Given the description of an element on the screen output the (x, y) to click on. 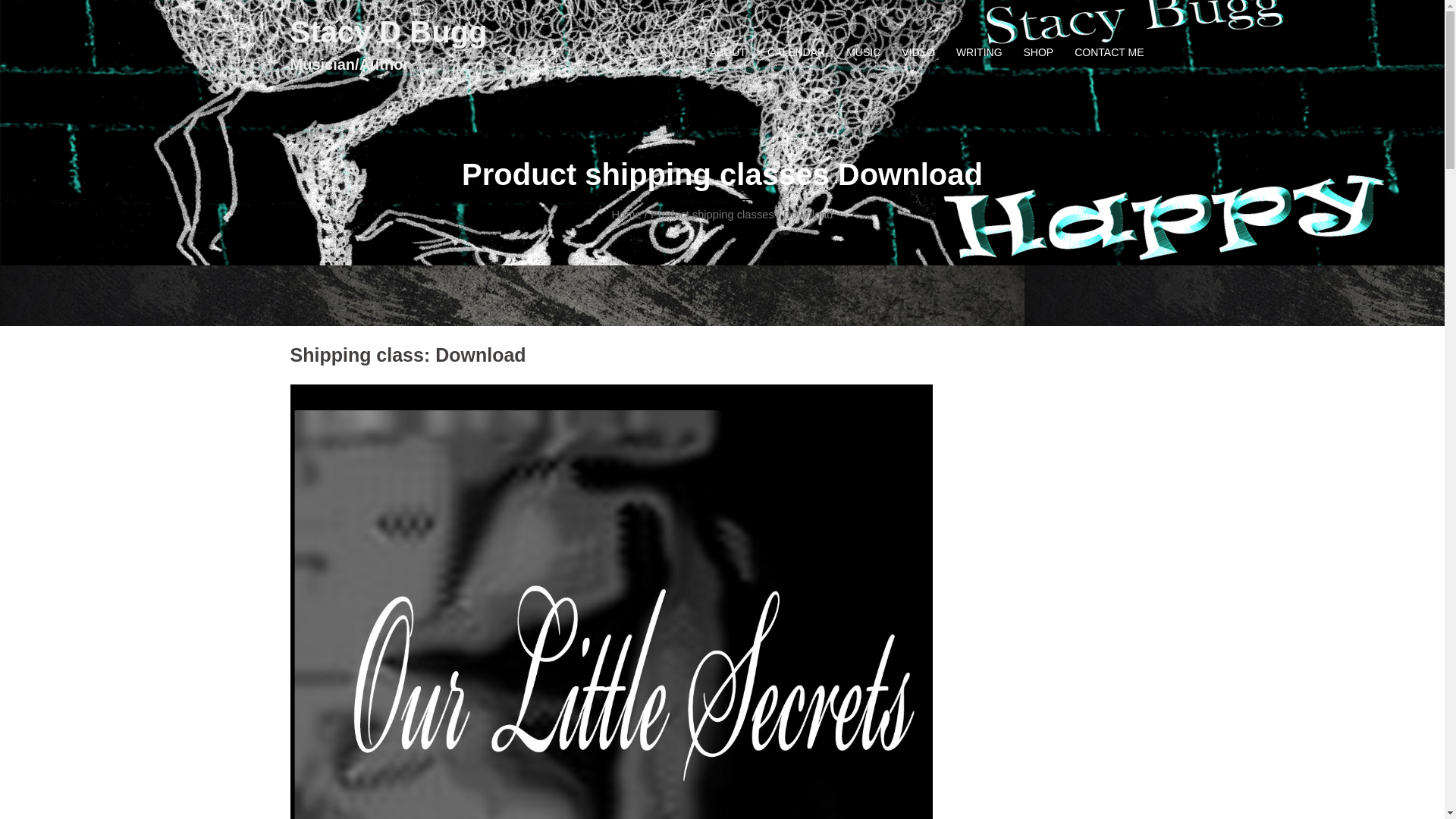
WRITING (979, 52)
VIDEO (917, 52)
MUSIC (862, 52)
Stacy D Bugg (387, 31)
SHOP (1038, 52)
CONTACT ME (1108, 52)
Home (625, 214)
ABOUT (727, 52)
CALENDAR (796, 52)
